Given the description of an element on the screen output the (x, y) to click on. 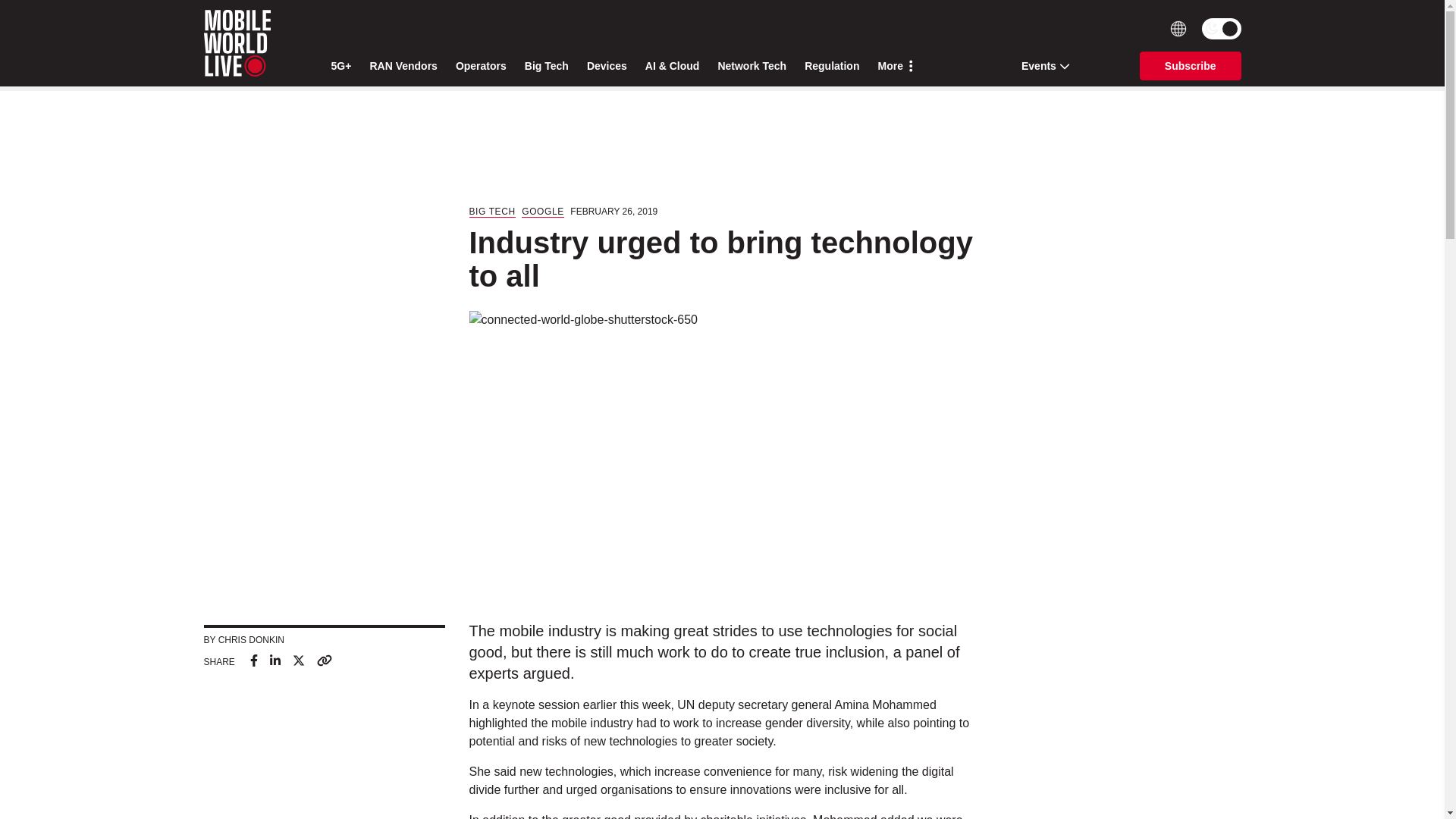
Subscribe (1190, 65)
Devices (606, 65)
Network Tech (751, 65)
Events (1040, 65)
Operators (480, 65)
Big Tech (546, 65)
RAN Vendors (402, 65)
Regulation (832, 65)
